Given the description of an element on the screen output the (x, y) to click on. 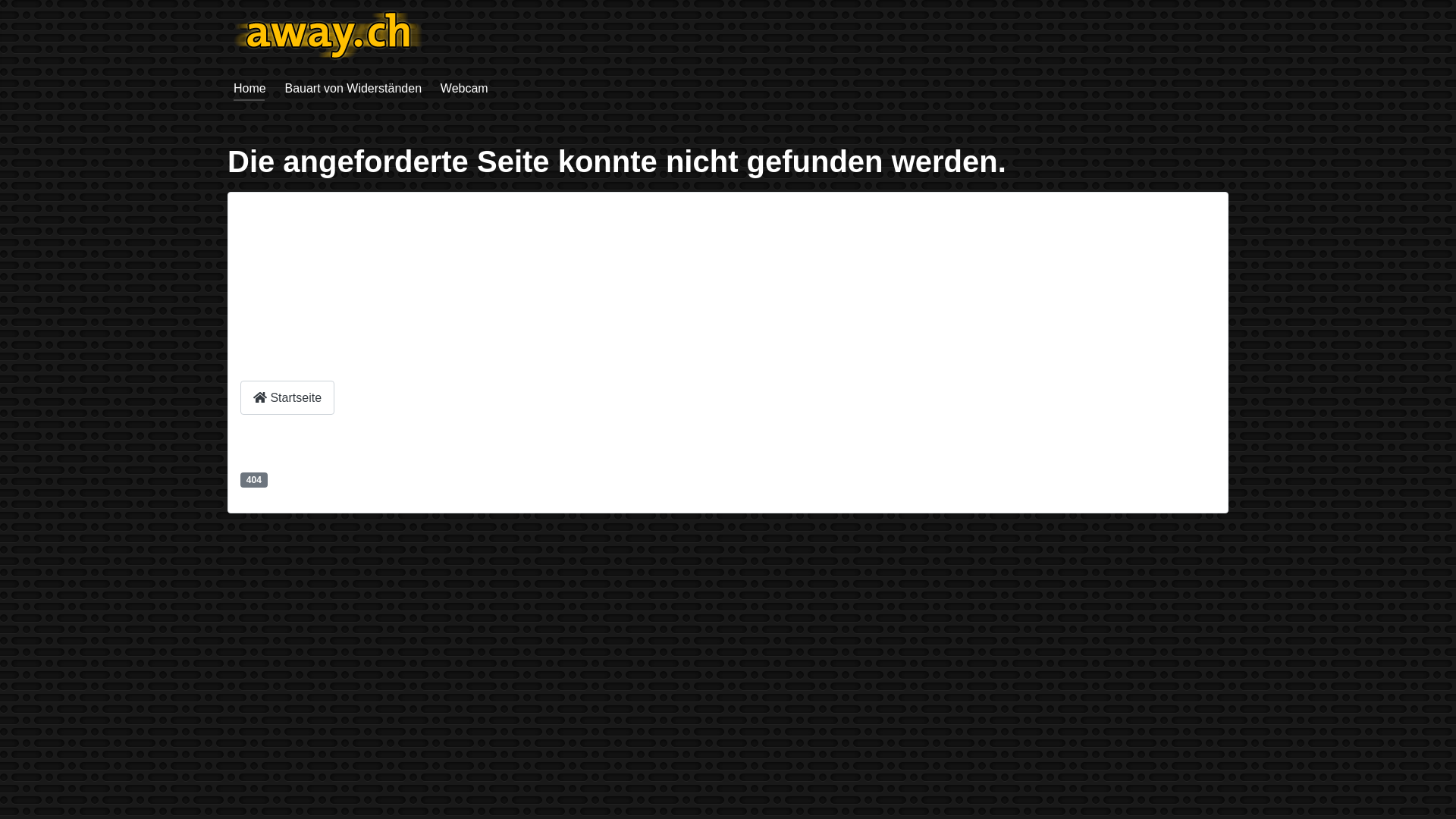
Webcam Element type: text (464, 87)
Startseite Element type: text (287, 397)
Home Element type: text (249, 87)
